Given the description of an element on the screen output the (x, y) to click on. 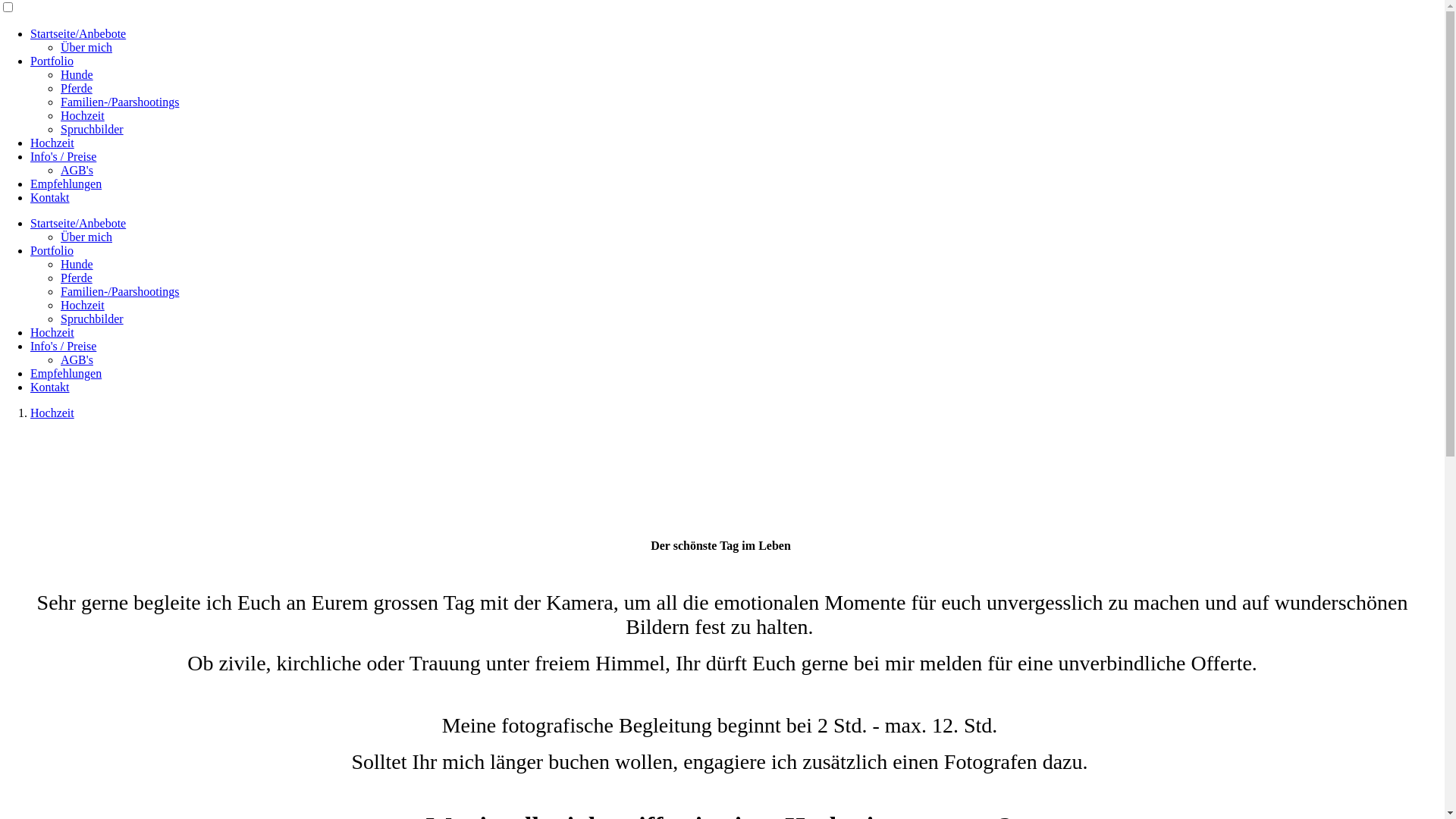
Portfolio Element type: text (51, 60)
Info's / Preise Element type: text (63, 345)
Kontakt Element type: text (49, 197)
Hochzeit Element type: text (52, 412)
AGB's Element type: text (76, 169)
Familien-/Paarshootings Element type: text (119, 101)
Pferde Element type: text (76, 87)
Startseite/Anbebote Element type: text (77, 33)
Empfehlungen Element type: text (65, 373)
Hochzeit Element type: text (52, 142)
Spruchbilder Element type: text (91, 128)
Hochzeit Element type: text (82, 304)
Info's / Preise Element type: text (63, 156)
Pferde Element type: text (76, 277)
Hunde Element type: text (76, 74)
Hunde Element type: text (76, 263)
Hochzeit Element type: text (52, 332)
Hochzeit Element type: text (82, 115)
Kontakt Element type: text (49, 386)
Familien-/Paarshootings Element type: text (119, 291)
AGB's Element type: text (76, 359)
Startseite/Anbebote Element type: text (77, 222)
Portfolio Element type: text (51, 250)
Spruchbilder Element type: text (91, 318)
Empfehlungen Element type: text (65, 183)
